Given the description of an element on the screen output the (x, y) to click on. 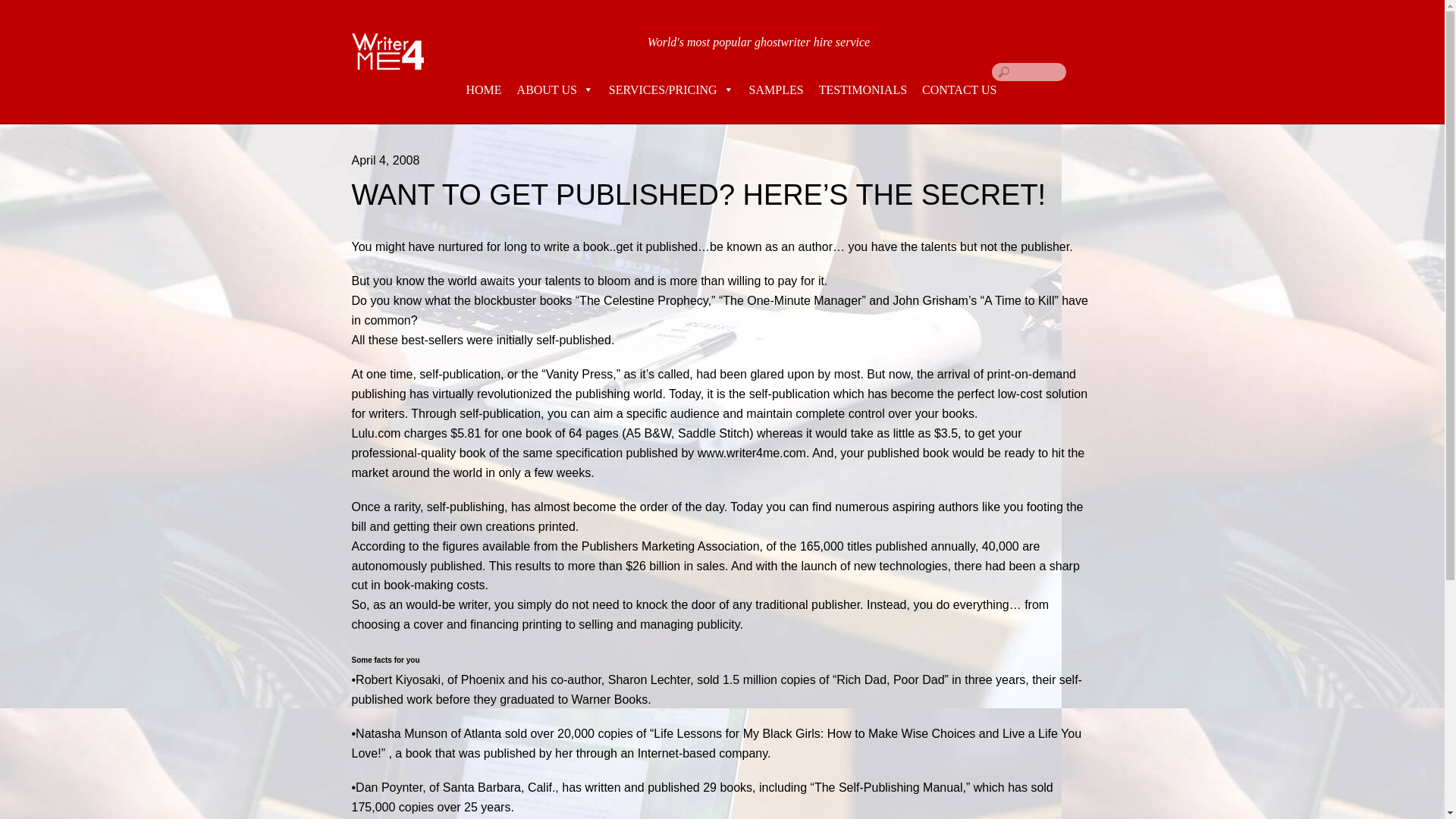
Writer4me.com (388, 51)
www.writer4me.com. (753, 452)
SAMPLES (775, 89)
      HOME (473, 89)
Search (1028, 72)
Writer4me.com (388, 60)
